Given the description of an element on the screen output the (x, y) to click on. 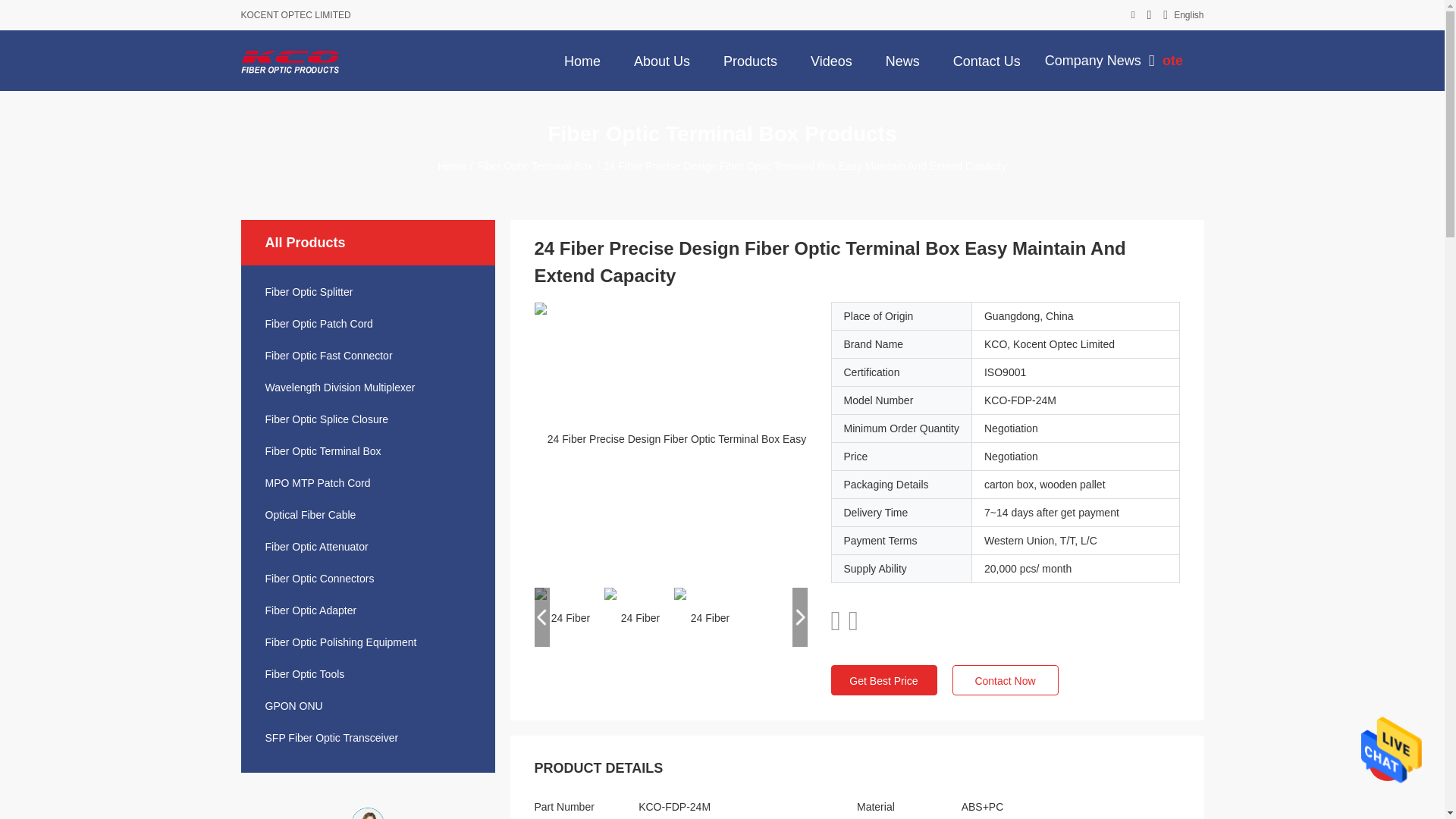
About Us (661, 60)
Home (582, 60)
Products (750, 60)
KOCENT OPTEC LIMITED LinkedIn (1149, 15)
KOCENT OPTEC LIMITED Facebook (1133, 15)
